Given the description of an element on the screen output the (x, y) to click on. 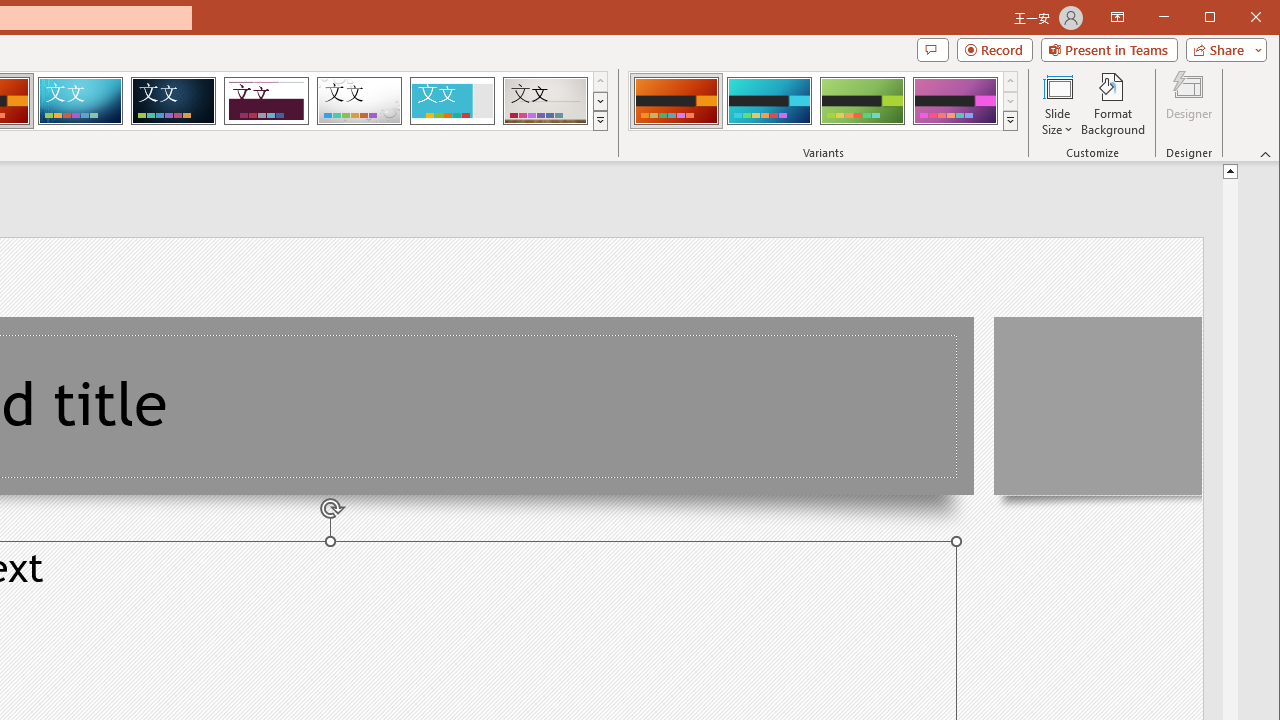
AutomationID: ThemeVariantsGallery (824, 101)
Dividend (266, 100)
Circuit (80, 100)
Berlin Variant 3 (862, 100)
Droplet (359, 100)
Berlin Variant 2 (769, 100)
Format Background (1113, 104)
Damask (173, 100)
Frame (452, 100)
Maximize (1238, 18)
